Given the description of an element on the screen output the (x, y) to click on. 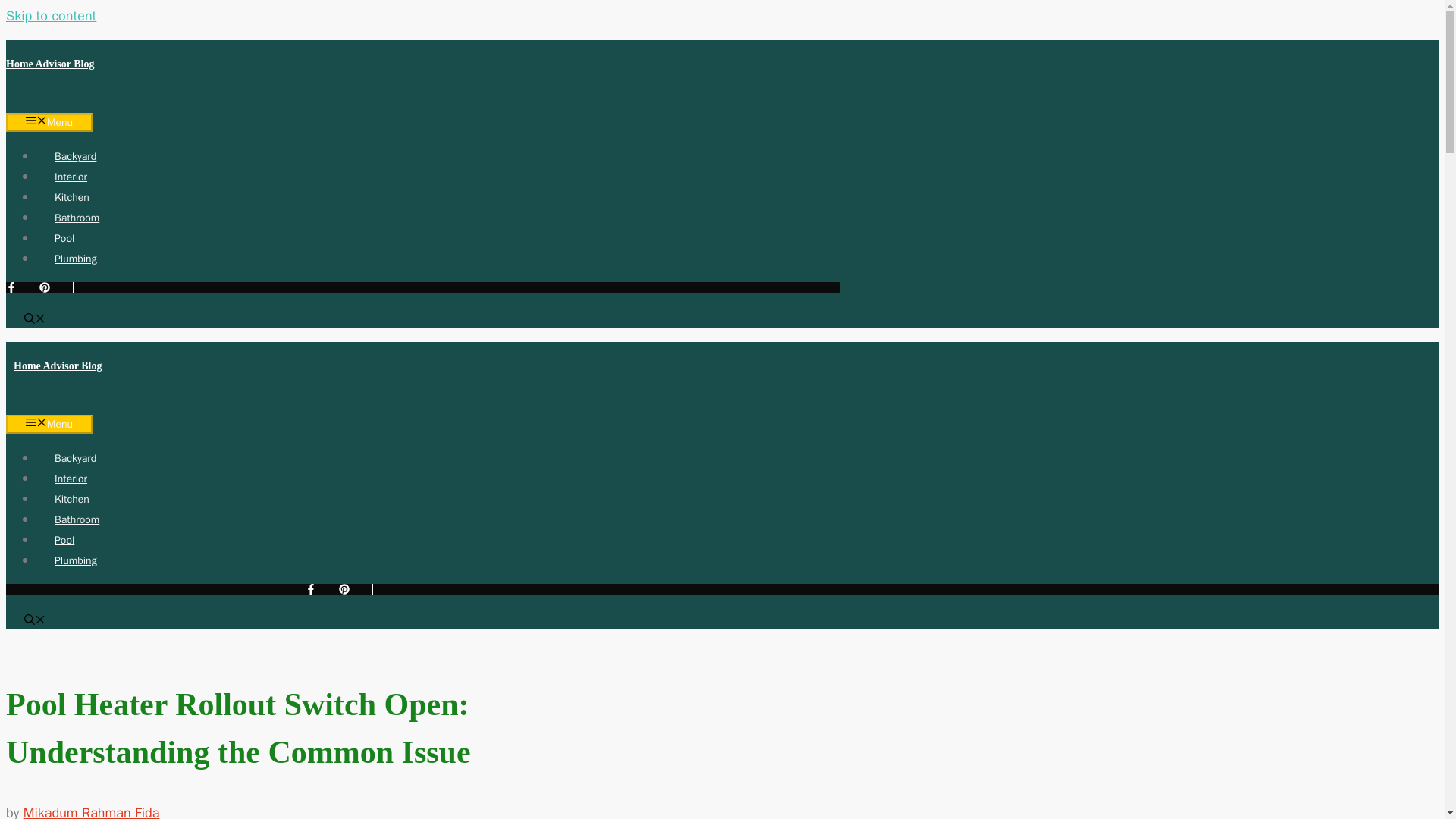
Interior (70, 176)
Bathroom (76, 217)
Home Advisor Blog (57, 365)
Pool (64, 540)
Pool (64, 237)
Interior (70, 478)
Skip to content (50, 15)
Menu (49, 424)
Skip to content (50, 15)
Plumbing (75, 560)
Bathroom (76, 519)
Mikadum Rahman Fida (91, 811)
Menu (49, 122)
Backyard (75, 155)
View all posts by Mikadum Rahman Fida (91, 811)
